Given the description of an element on the screen output the (x, y) to click on. 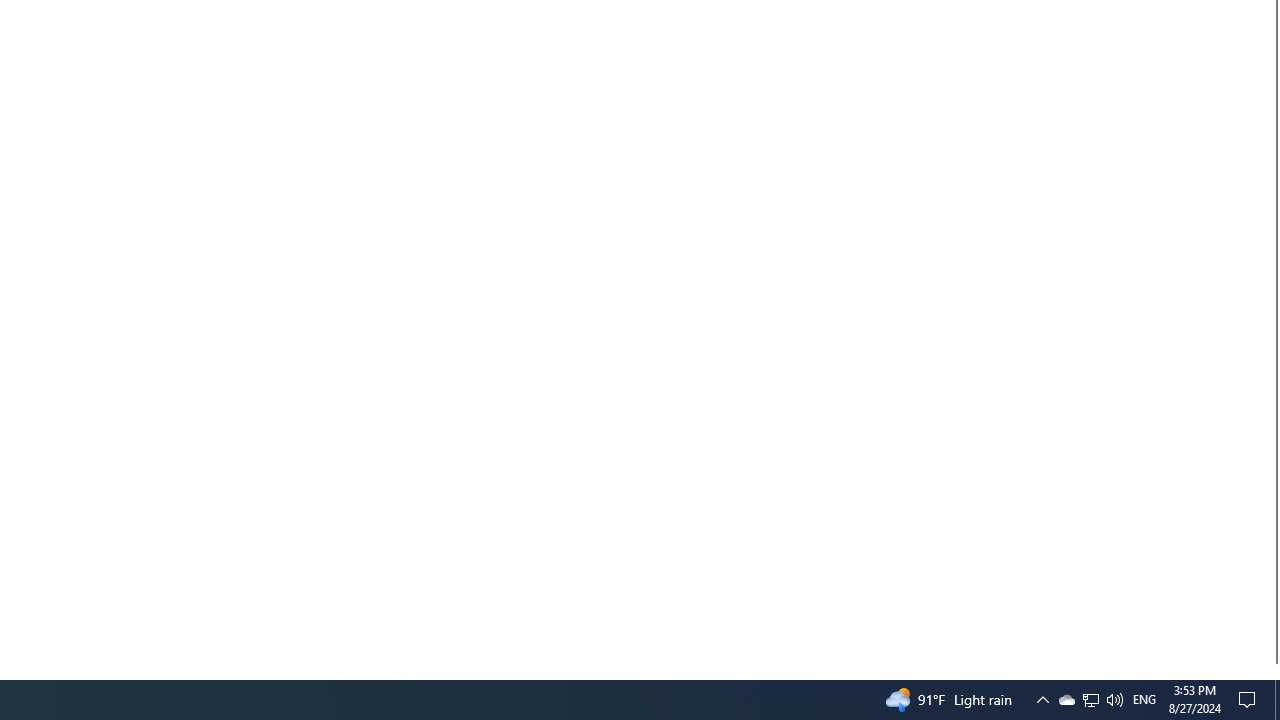
Tray Input Indicator - English (United States) (1144, 699)
Vertical Small Increase (1272, 671)
User Promoted Notification Area (1090, 699)
Show desktop (1277, 699)
Q2790: 100% (1091, 699)
Action Center, No new notifications (1114, 699)
Notification Chevron (1066, 699)
